Given the description of an element on the screen output the (x, y) to click on. 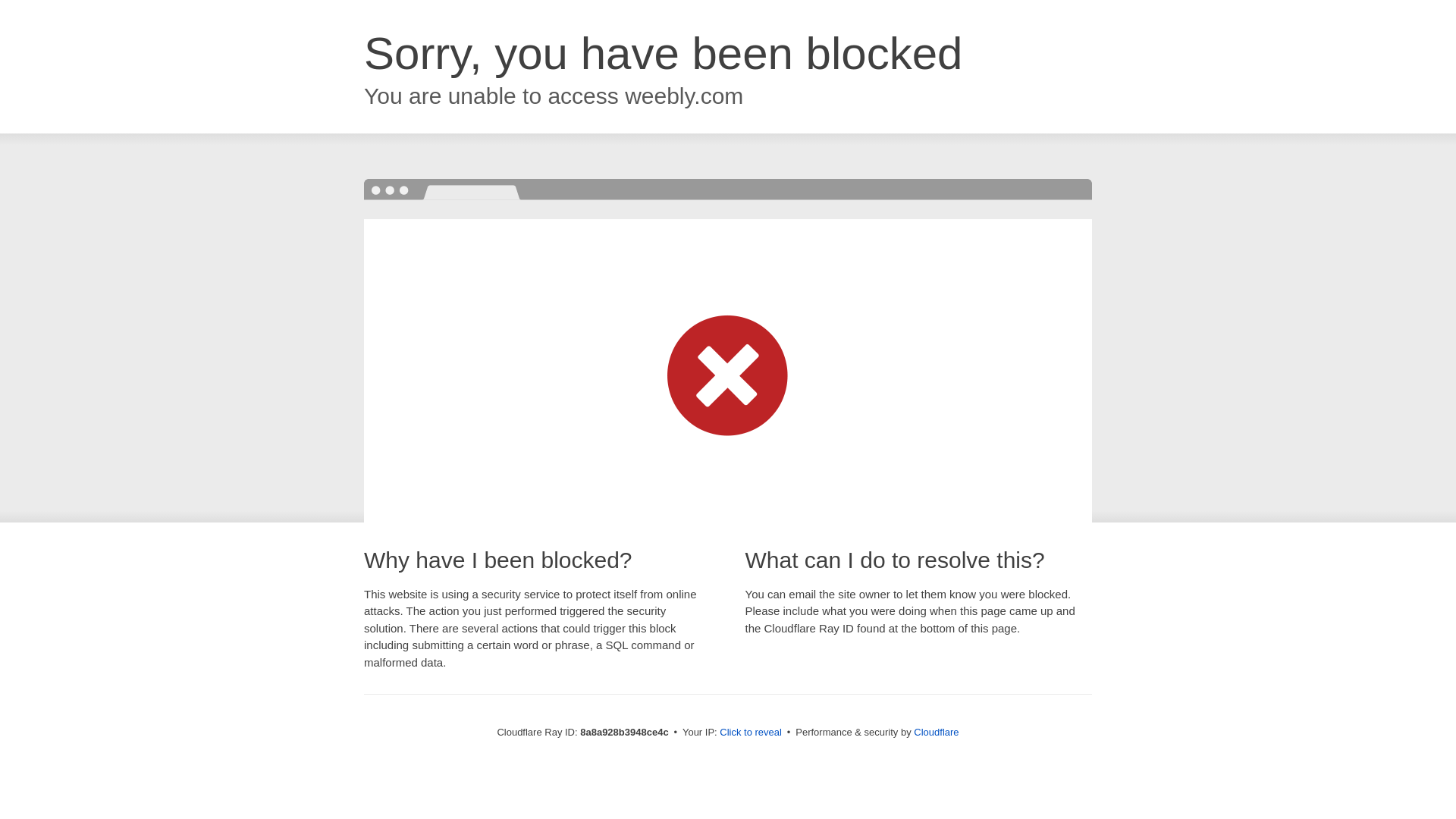
Cloudflare (936, 731)
Click to reveal (750, 732)
